Given the description of an element on the screen output the (x, y) to click on. 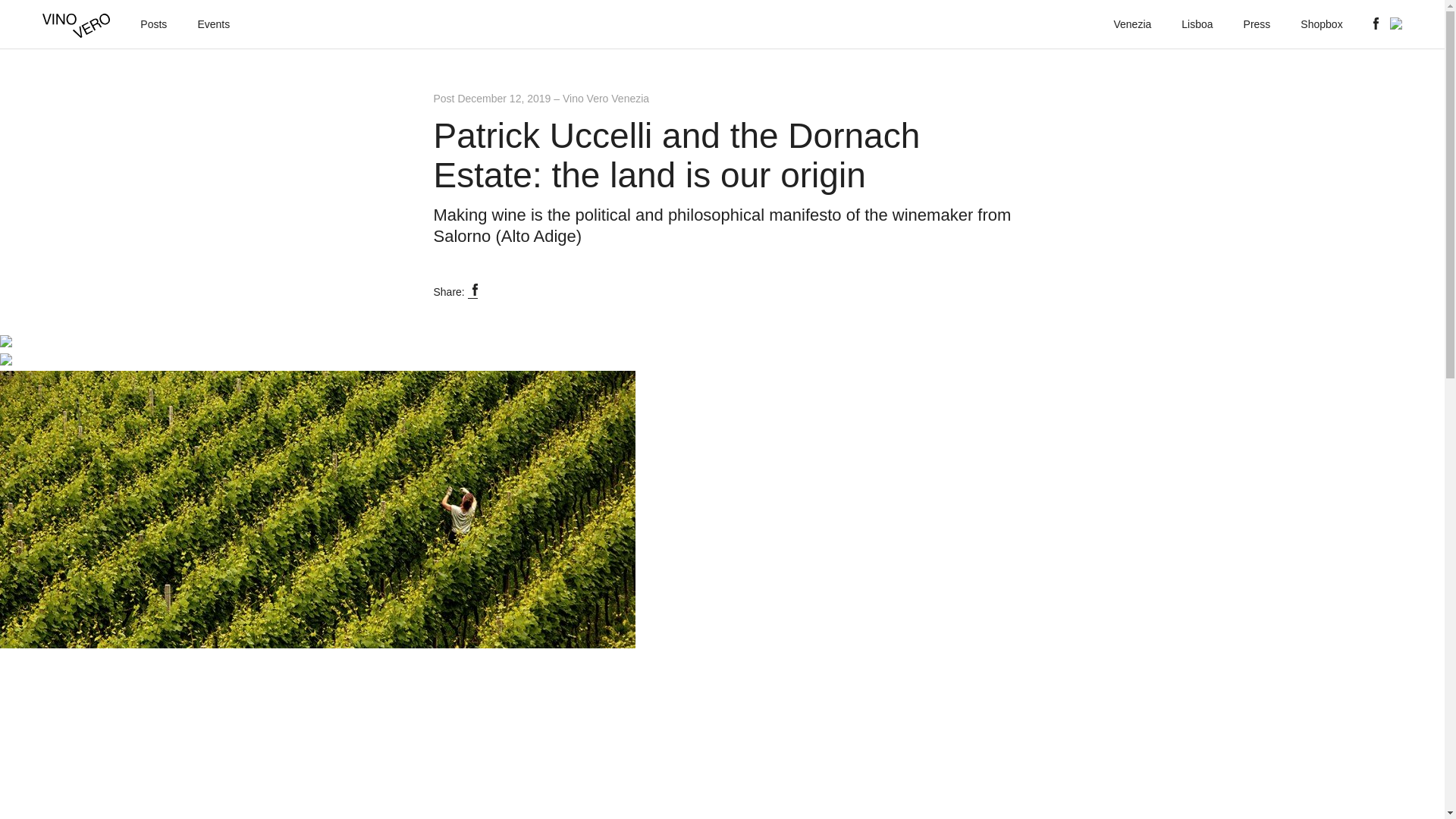
Venezia (1132, 24)
Events (213, 24)
Shopbox (1321, 24)
Posts (153, 24)
Lisboa (1196, 24)
Press (1257, 24)
